Given the description of an element on the screen output the (x, y) to click on. 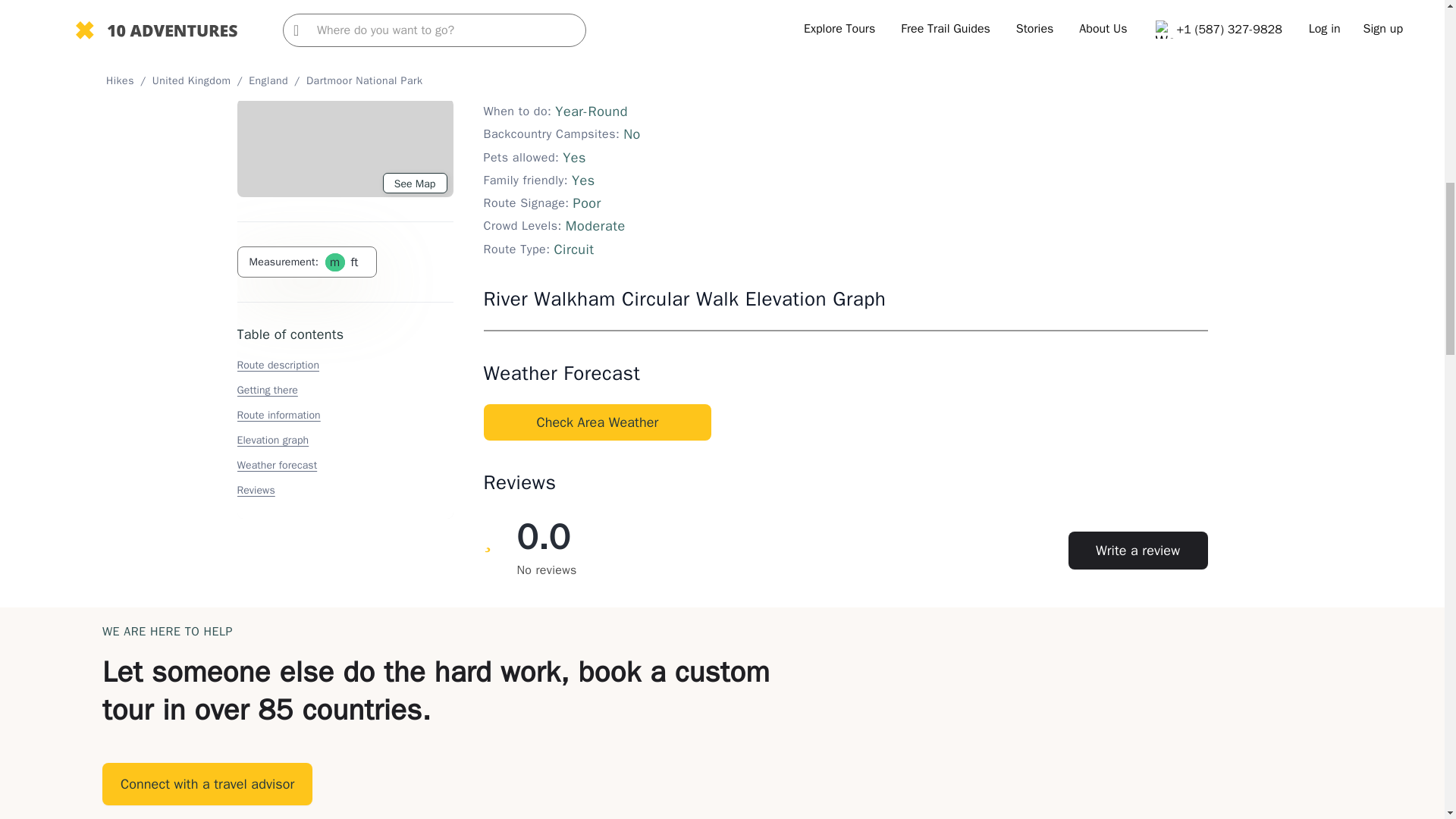
Elevation graph (271, 35)
Route information (277, 10)
Weather forecast (276, 60)
Reviews (255, 85)
